Given the description of an element on the screen output the (x, y) to click on. 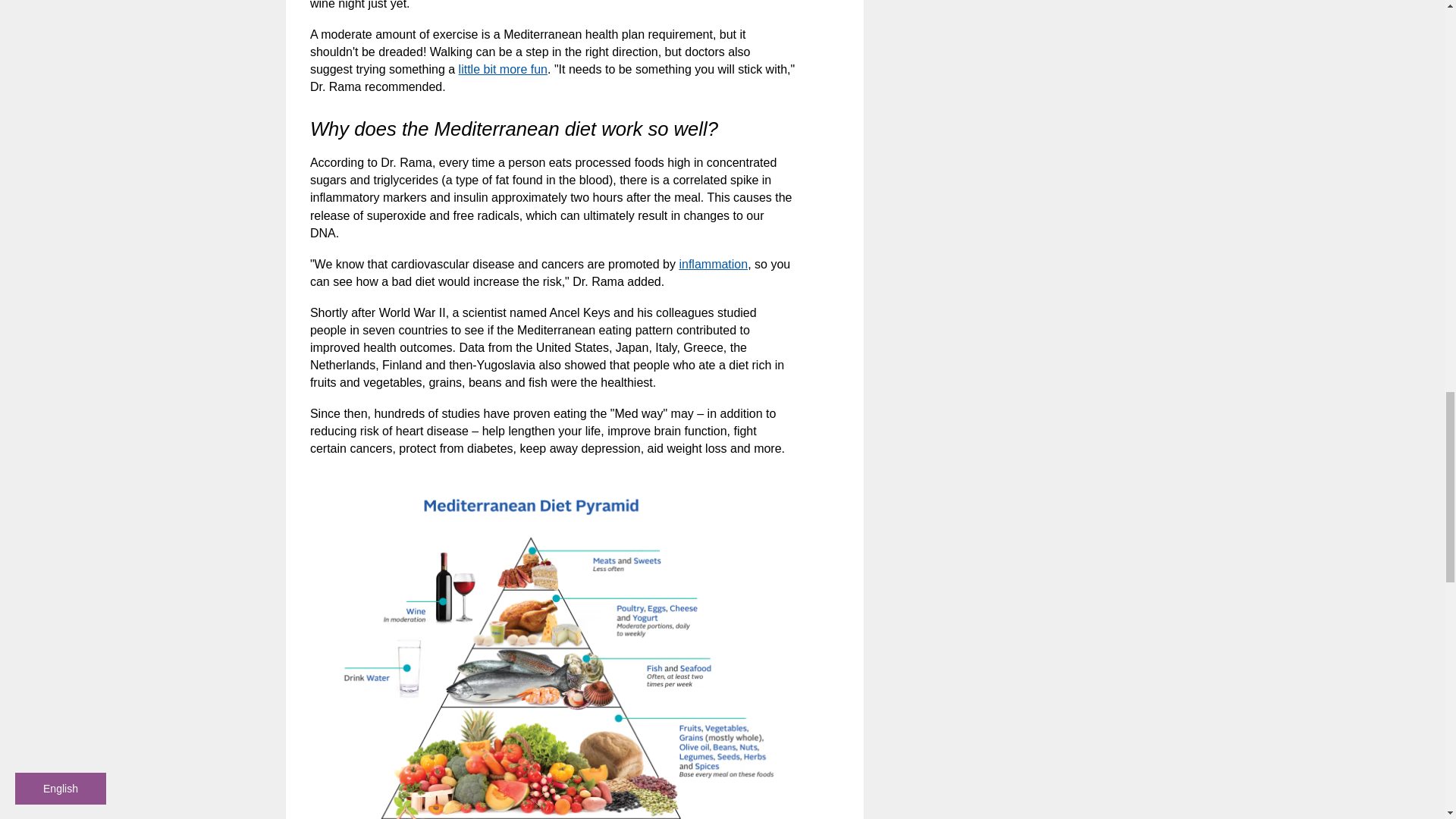
inflammation (713, 264)
little bit more fun (502, 69)
